Given the description of an element on the screen output the (x, y) to click on. 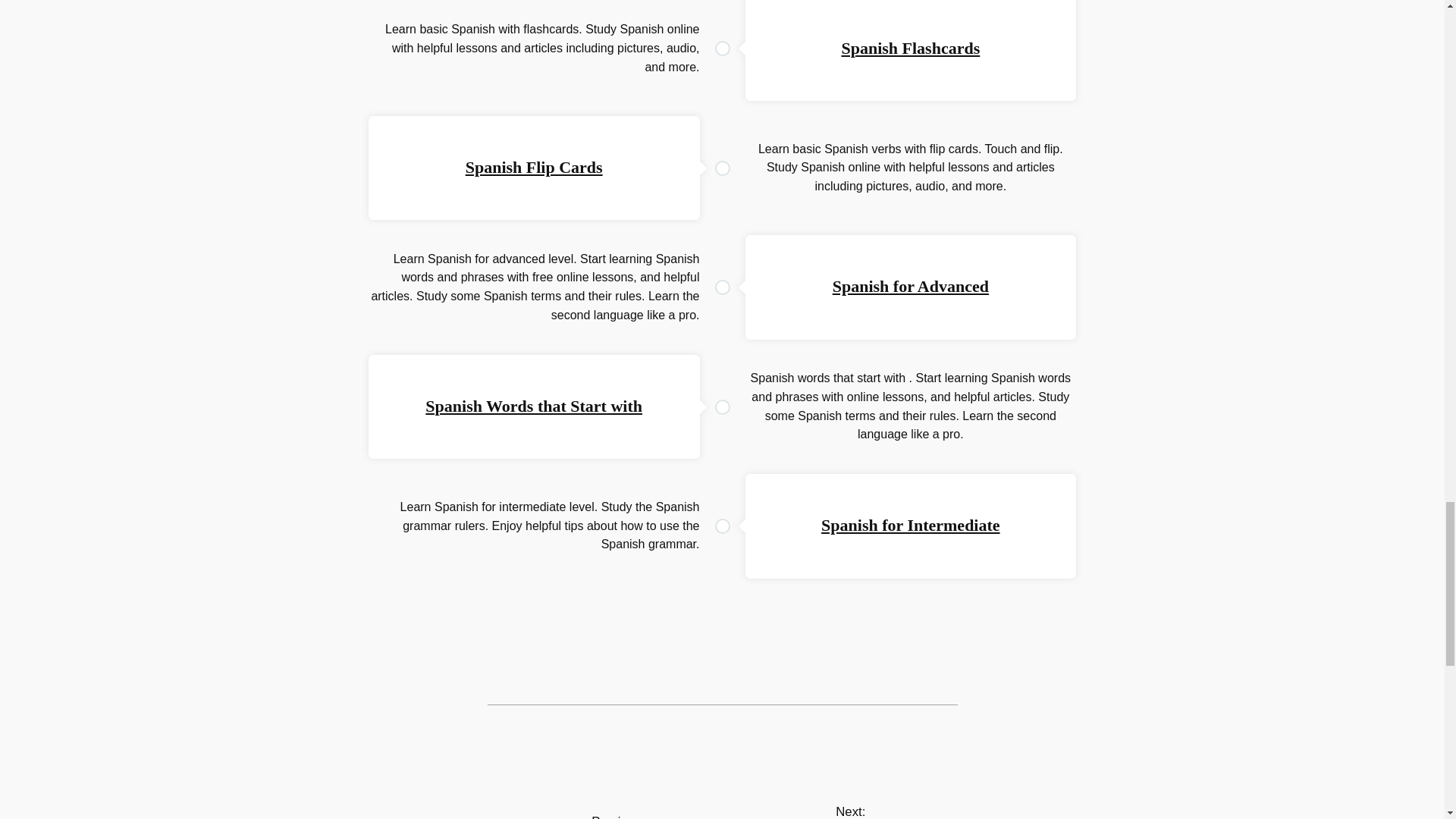
Next: Diarios De Motocicleta Script Spanish (850, 811)
Spanish Words that Start with (533, 405)
Spanish for Intermediate (910, 524)
Spanish Flashcards (910, 47)
Spanish for Advanced (910, 285)
Previous: Dermatologist in Spanish Town Jamaica (608, 816)
Spanish Flip Cards (533, 167)
